Given the description of an element on the screen output the (x, y) to click on. 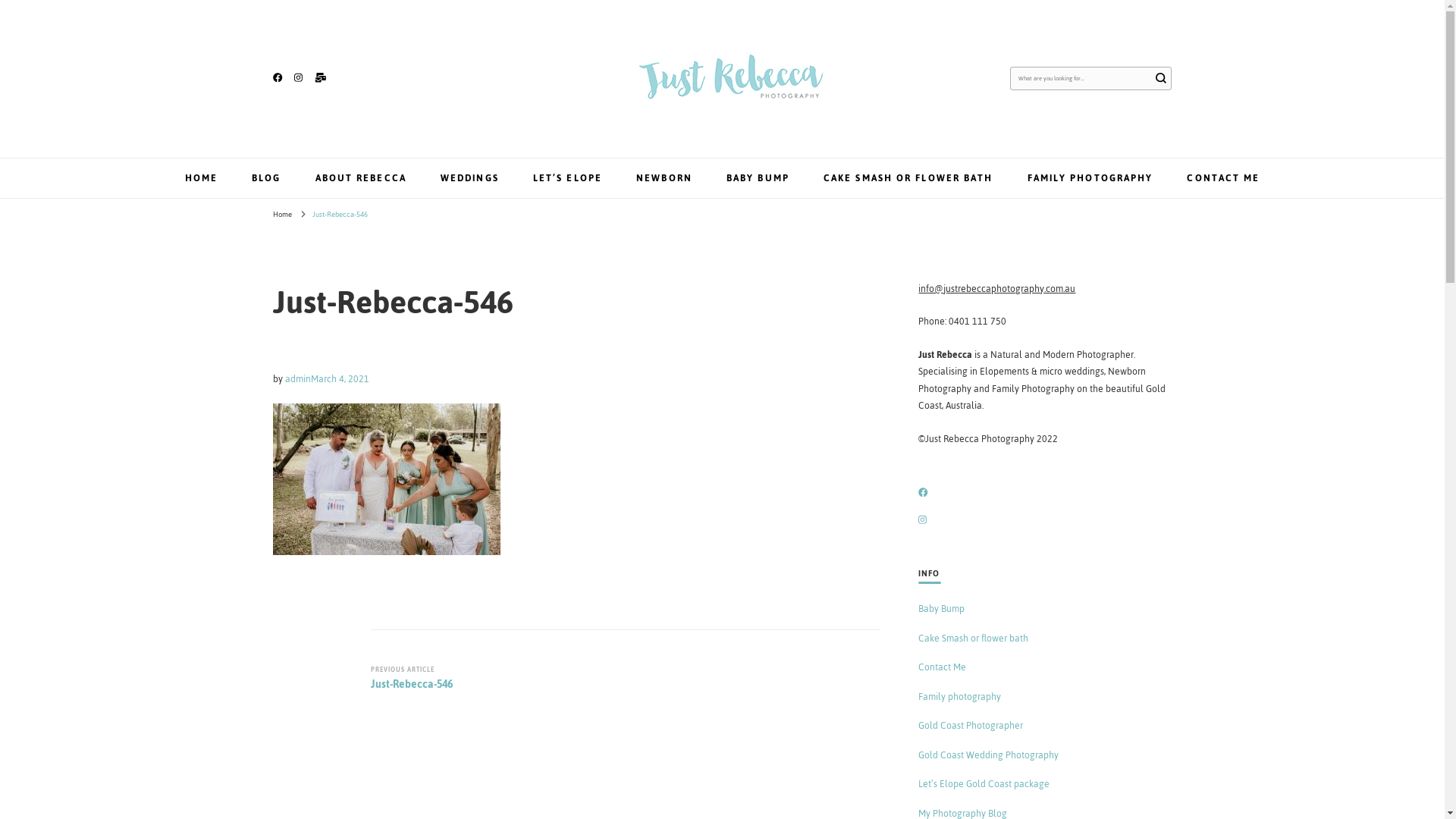
Family photography Element type: text (959, 696)
WEDDINGS Element type: text (469, 178)
March 4, 2021 Element type: text (339, 379)
Gold Coast Photographer Element type: text (970, 725)
Cake Smash or flower bath Element type: text (973, 638)
BLOG Element type: text (265, 178)
HOME Element type: text (201, 178)
Home Element type: text (282, 214)
admin Element type: text (297, 379)
NEWBORN Element type: text (664, 178)
ABOUT REBECCA Element type: text (360, 178)
Just Rebecca Photography Element type: text (607, 120)
FAMILY PHOTOGRAPHY Element type: text (1090, 178)
Contact Me Element type: text (942, 667)
Search Element type: text (1160, 77)
BABY BUMP Element type: text (757, 178)
Baby Bump Element type: text (941, 608)
CONTACT ME Element type: text (1222, 178)
CAKE SMASH OR FLOWER BATH Element type: text (908, 178)
info@justrebeccaphotography.com.au Element type: text (996, 288)
PREVIOUS ARTICLE
Just-Rebecca-546 Element type: text (492, 679)
Just-Rebecca-546 Element type: text (339, 214)
Gold Coast Wedding Photography Element type: text (988, 755)
